Given the description of an element on the screen output the (x, y) to click on. 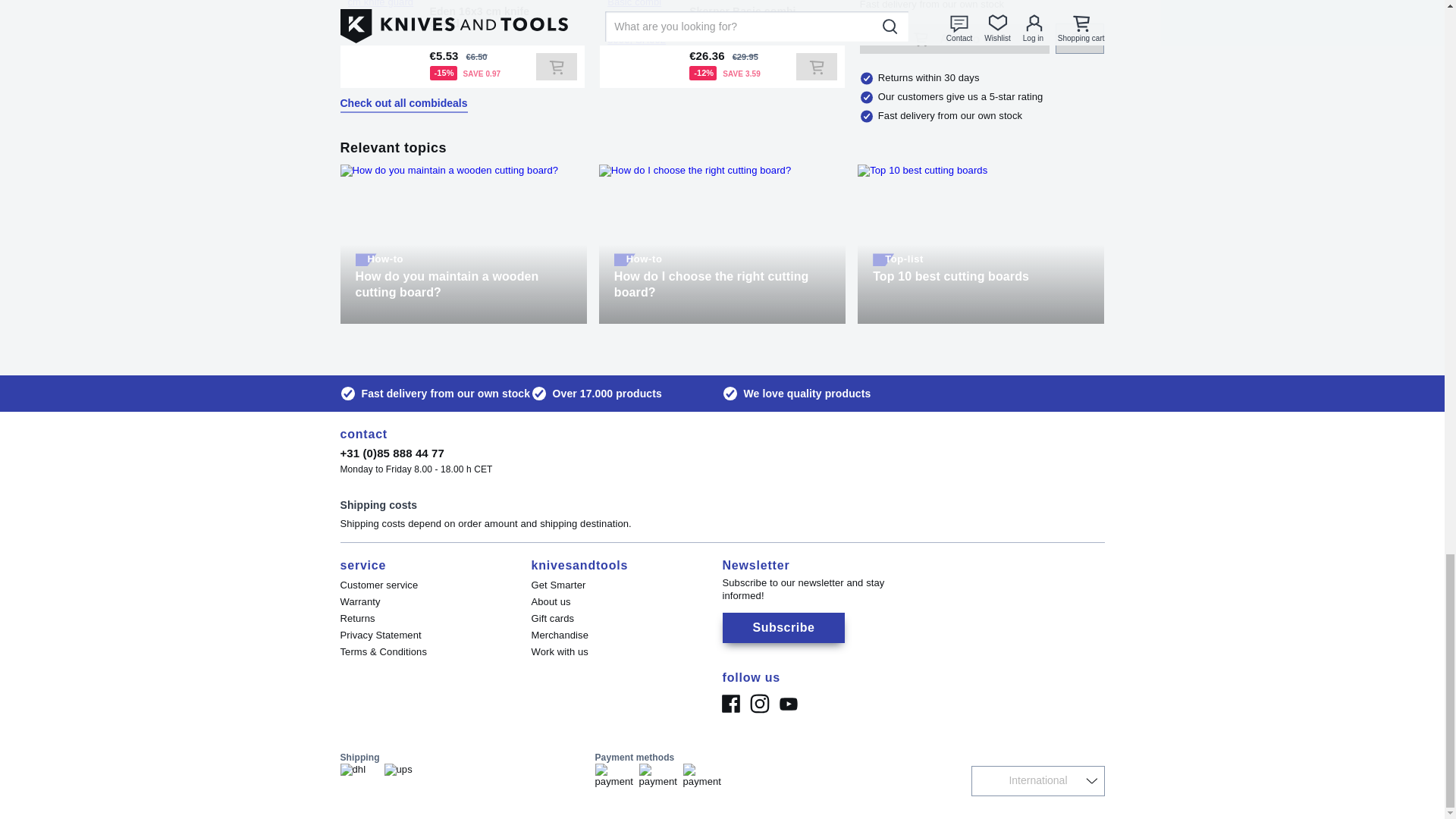
Facebook (730, 703)
Instagram (758, 703)
Youtube (787, 703)
